Given the description of an element on the screen output the (x, y) to click on. 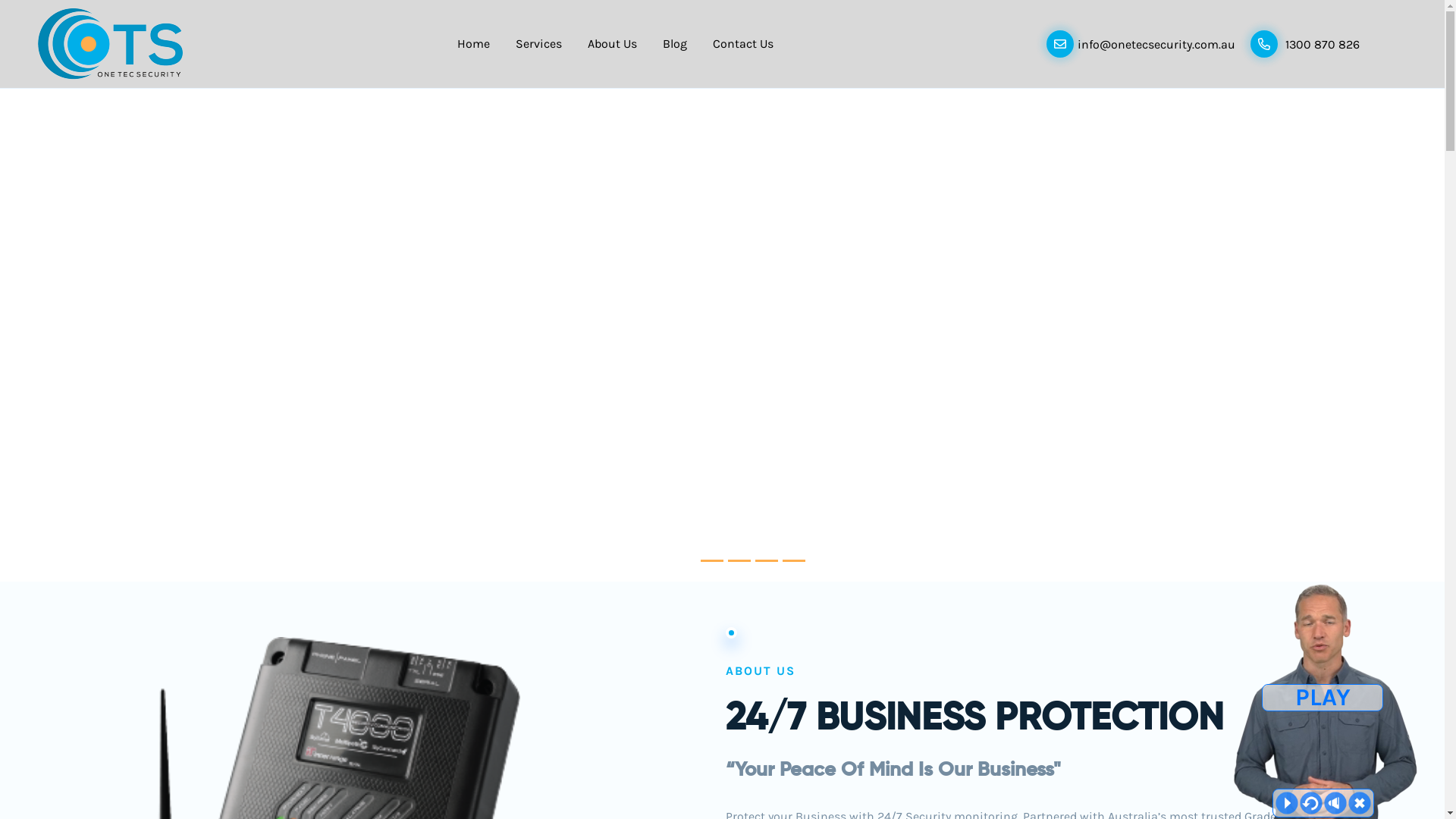
Blog Element type: text (674, 43)
About Us Element type: text (612, 43)
Contact Us Element type: text (742, 43)
Home Element type: text (473, 43)
info@onetecsecurity.com.au Element type: text (1140, 43)
1300 870 826 Element type: text (1304, 43)
Services Element type: text (538, 43)
